Given the description of an element on the screen output the (x, y) to click on. 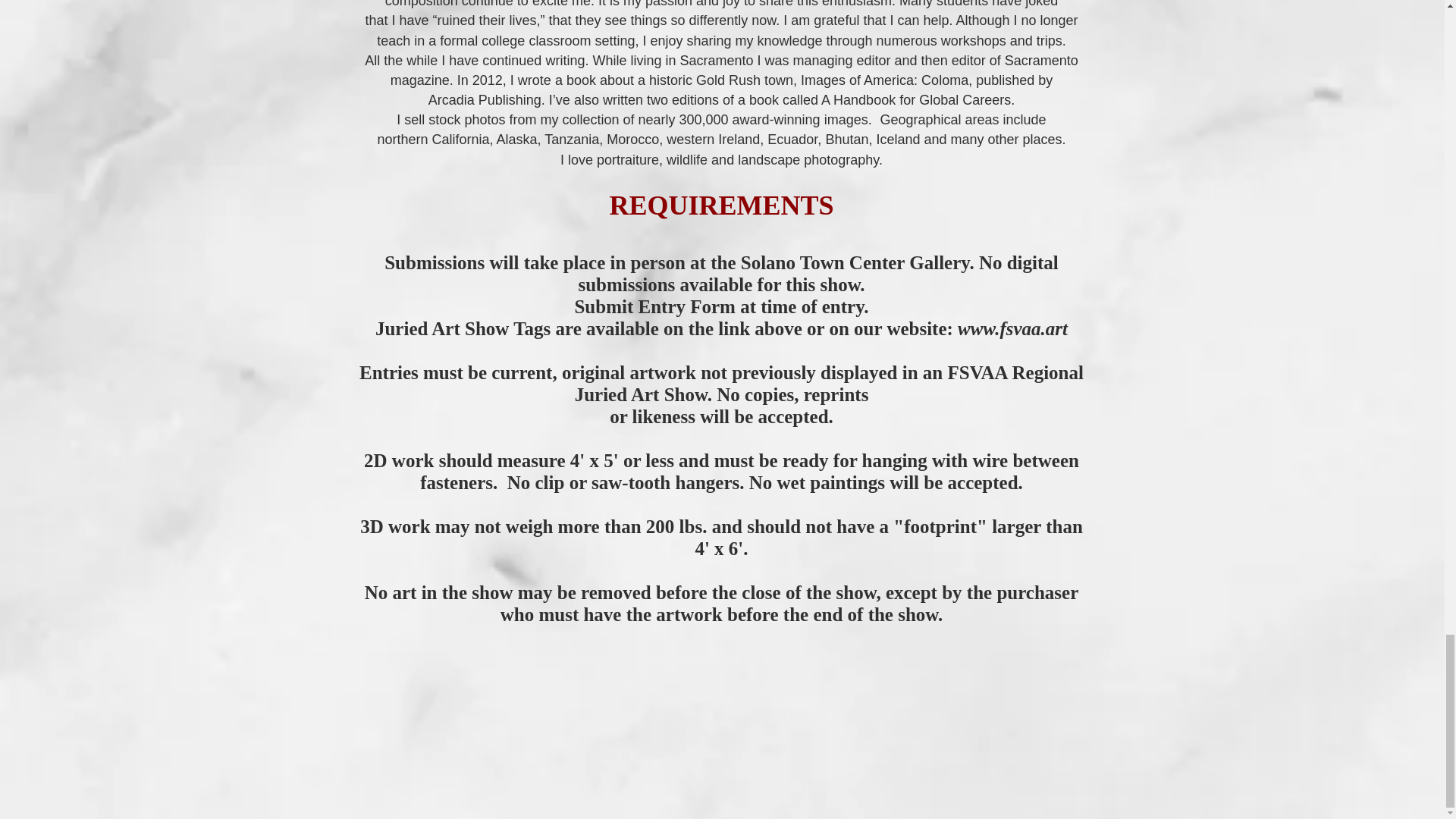
www.fsvaa.art (1012, 328)
